Given the description of an element on the screen output the (x, y) to click on. 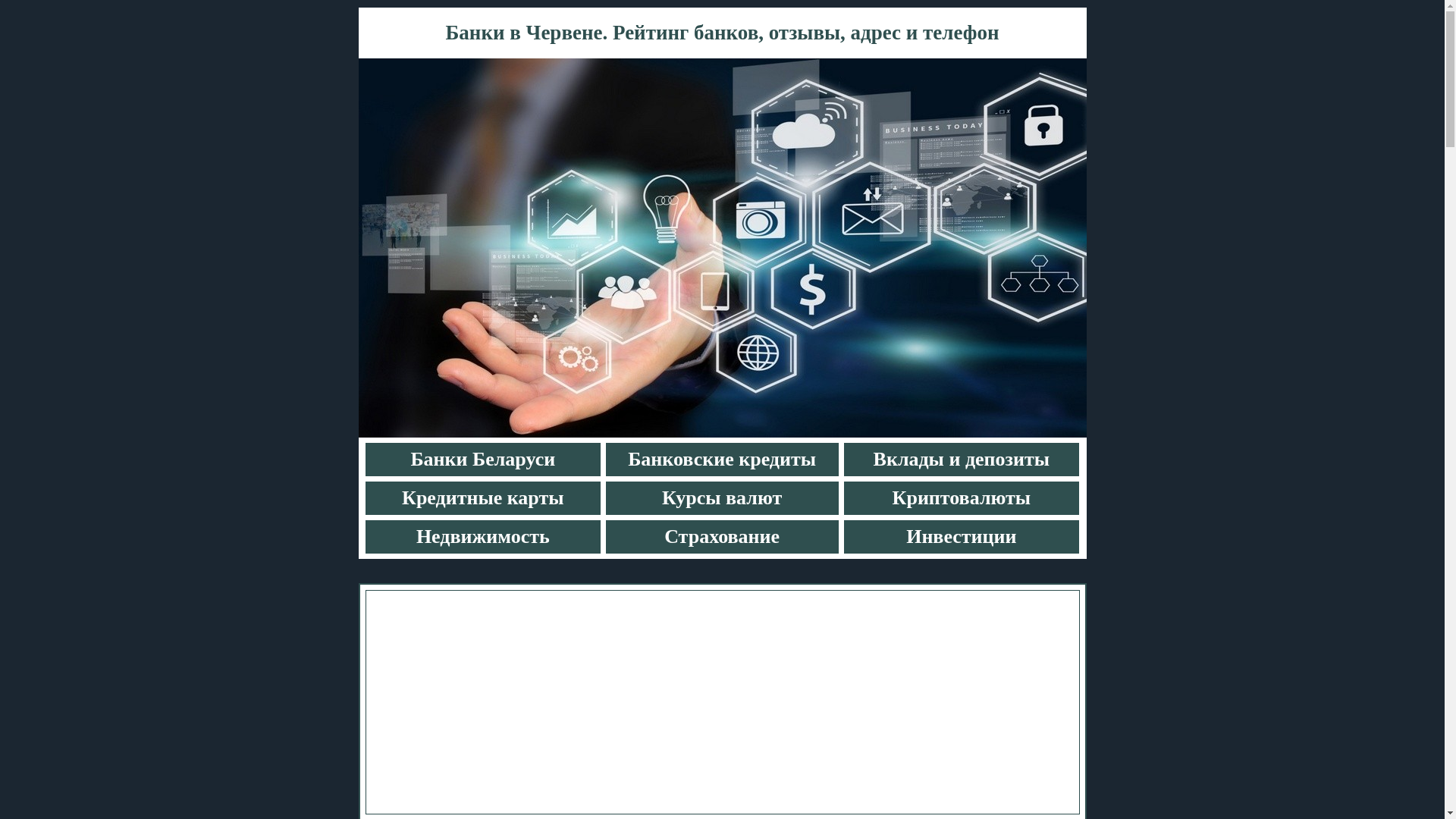
Advertisement Element type: hover (722, 702)
